Given the description of an element on the screen output the (x, y) to click on. 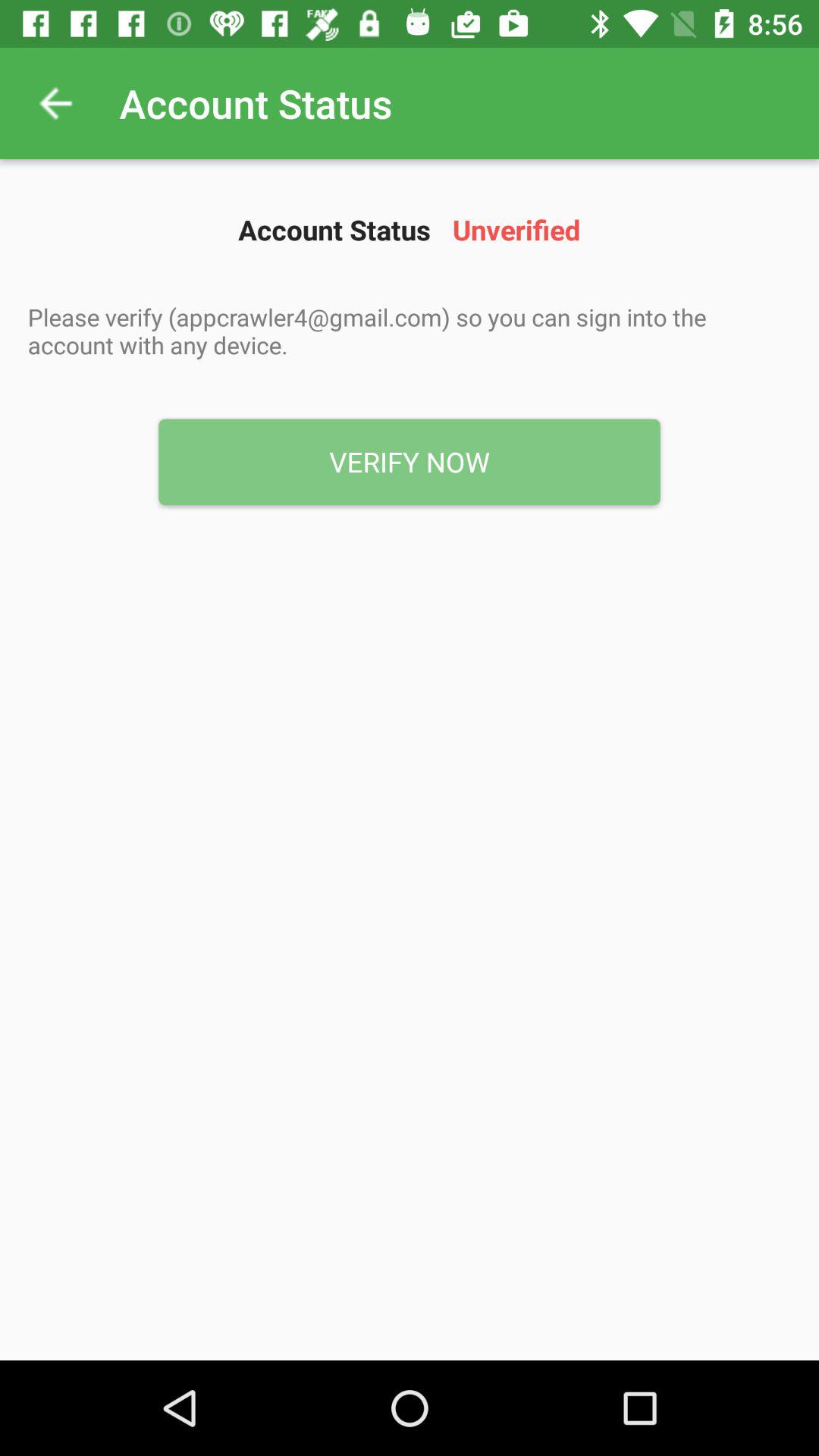
click item above the please verify appcrawler4 (55, 103)
